Given the description of an element on the screen output the (x, y) to click on. 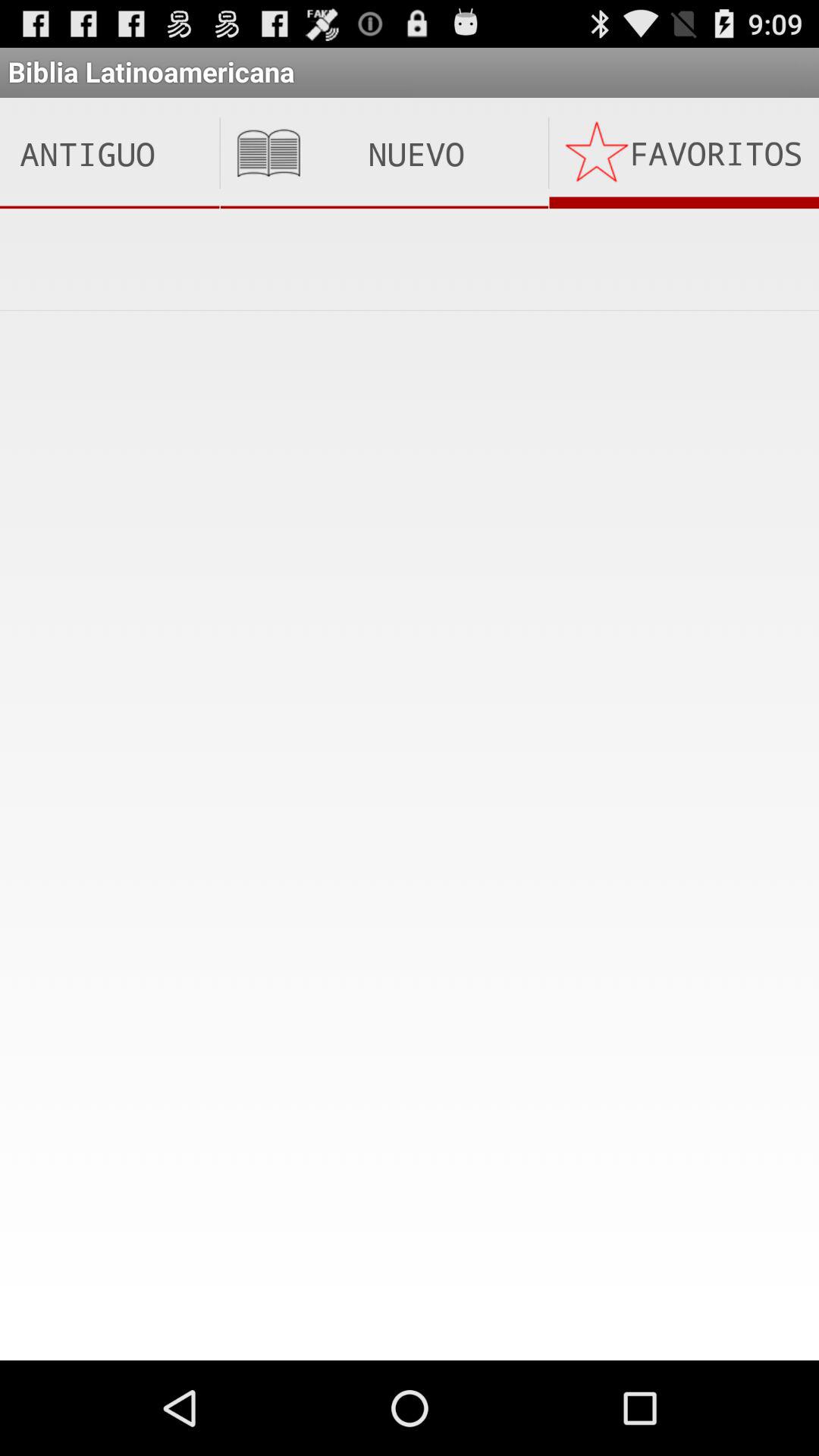
scroll until antiguo testamento item (109, 152)
